Given the description of an element on the screen output the (x, y) to click on. 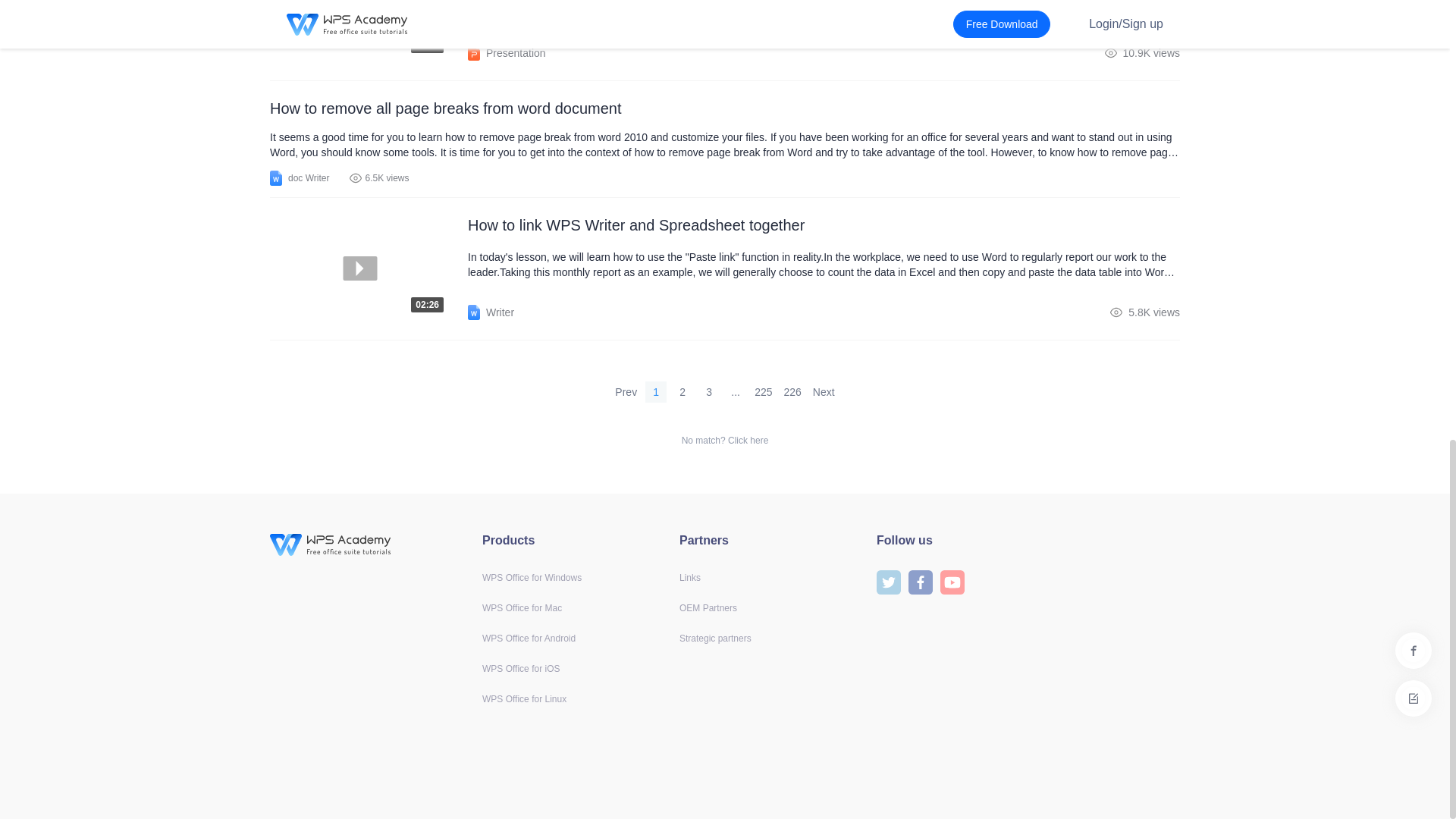
WPS Office for Windows (530, 577)
WPS Office for Android (528, 638)
No match? Click here (724, 440)
1 (655, 391)
225 (762, 391)
226 (792, 391)
2 (682, 391)
... (368, 30)
Next (735, 391)
WPS Office for Mac (368, 268)
WPS Office for iOS (823, 391)
